Given the description of an element on the screen output the (x, y) to click on. 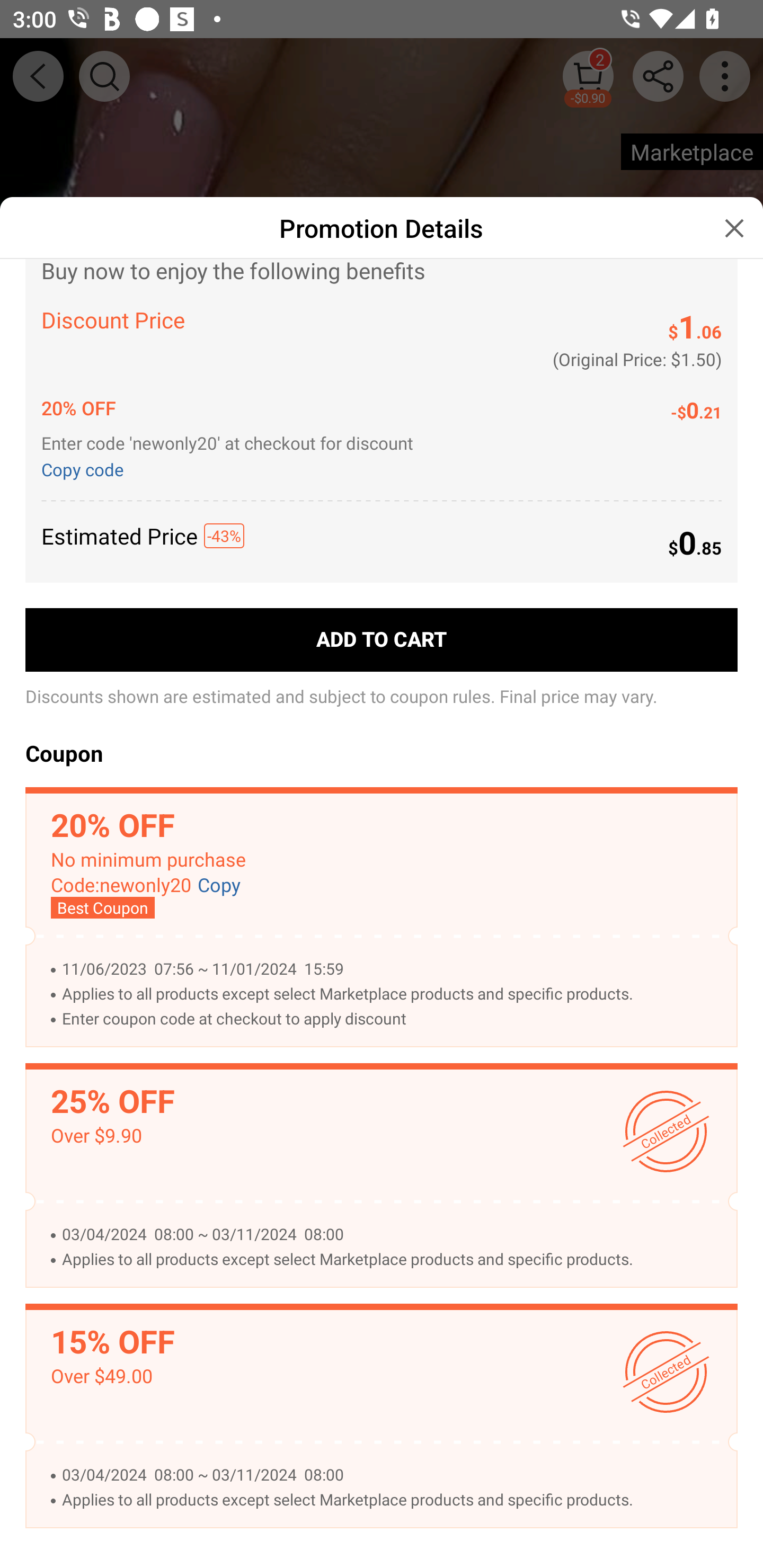
Close (734, 227)
Copy code (85, 467)
ADD TO CART (381, 639)
Copy (219, 885)
11/06/2023  07:56 ~ 11/01/2024  15:59 (389, 968)
Enter coupon code at checkout to apply discount (389, 1018)
03/04/2024  08:00 ~ 03/11/2024  08:00 (389, 1233)
03/04/2024  08:00 ~ 03/11/2024  08:00 (389, 1475)
